Given the description of an element on the screen output the (x, y) to click on. 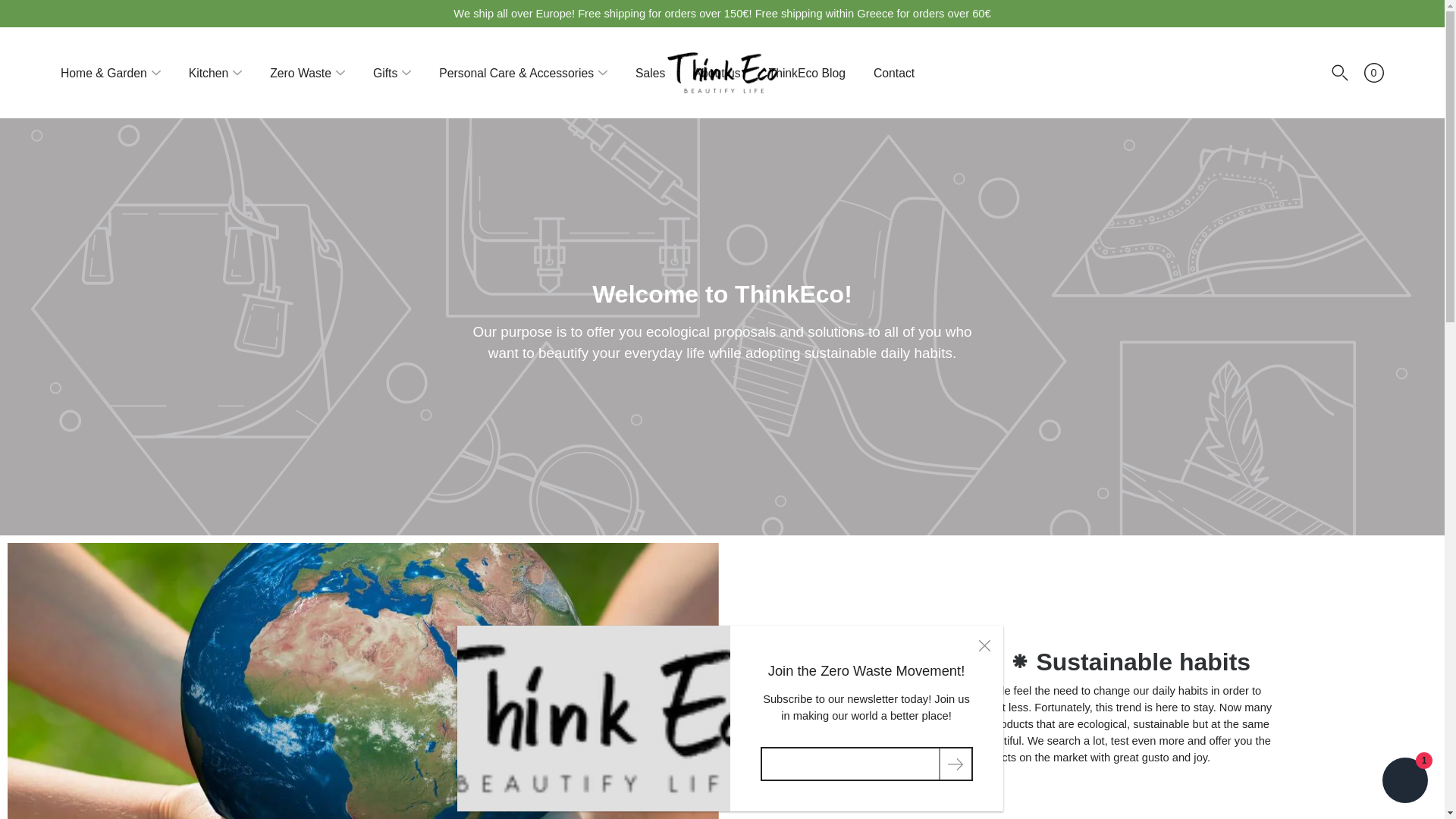
Gifts (384, 72)
Zero Waste (300, 72)
Shopify online store chat (1404, 781)
